Given the description of an element on the screen output the (x, y) to click on. 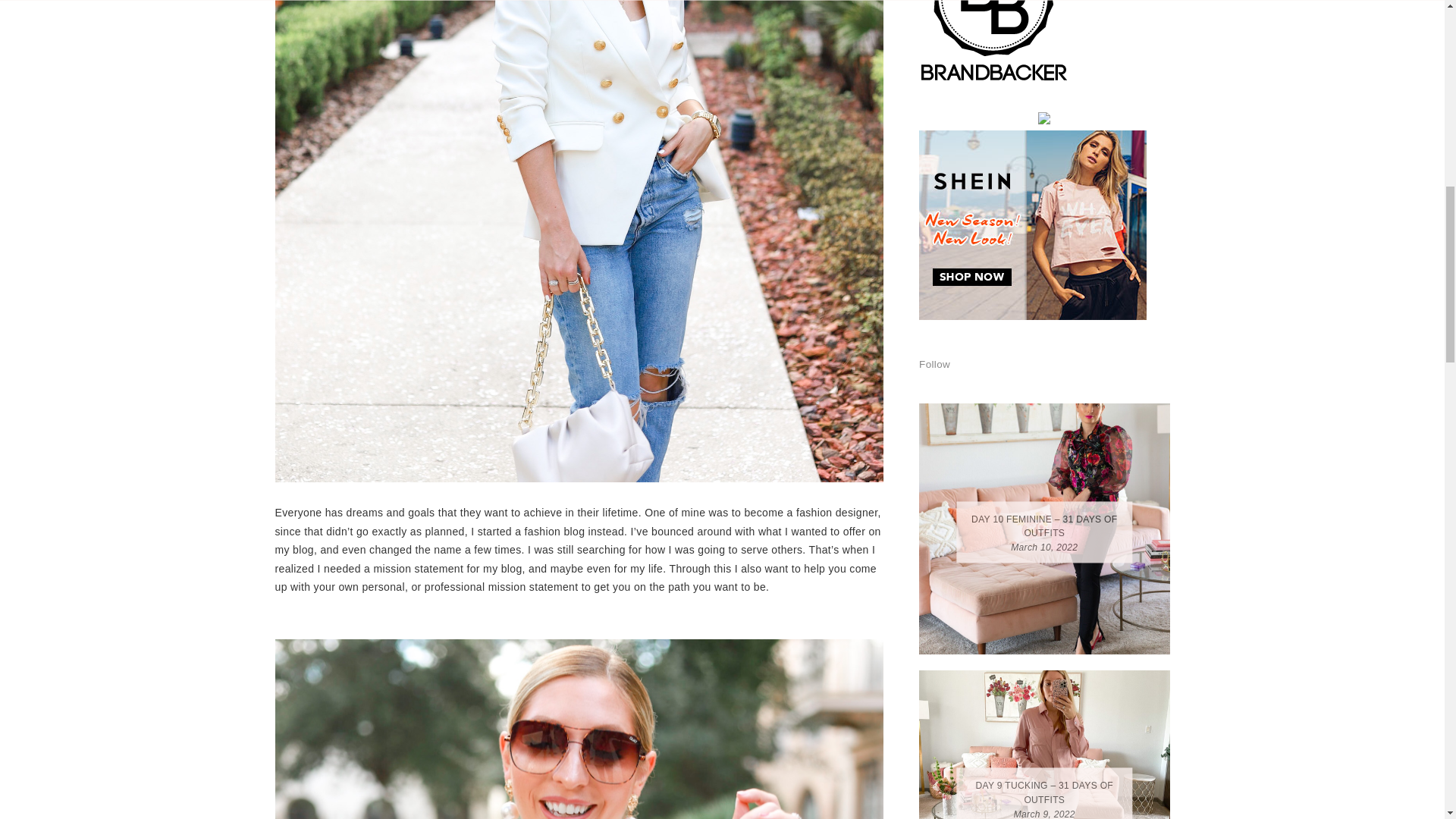
BrandBacker Member (994, 81)
